Given the description of an element on the screen output the (x, y) to click on. 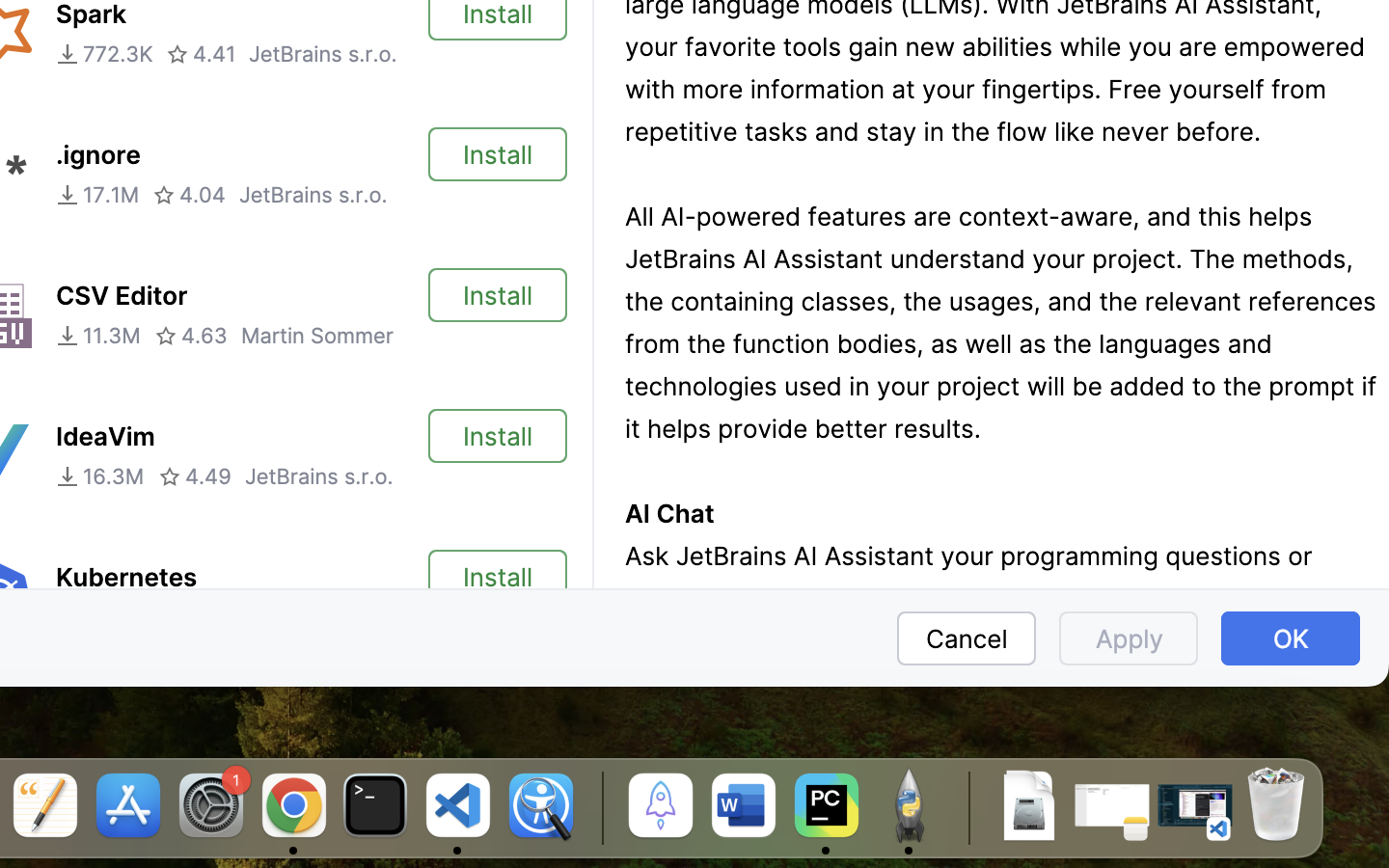
4.49 Element type: AXStaticText (194, 475)
17.1M Element type: AXStaticText (96, 194)
